Given the description of an element on the screen output the (x, y) to click on. 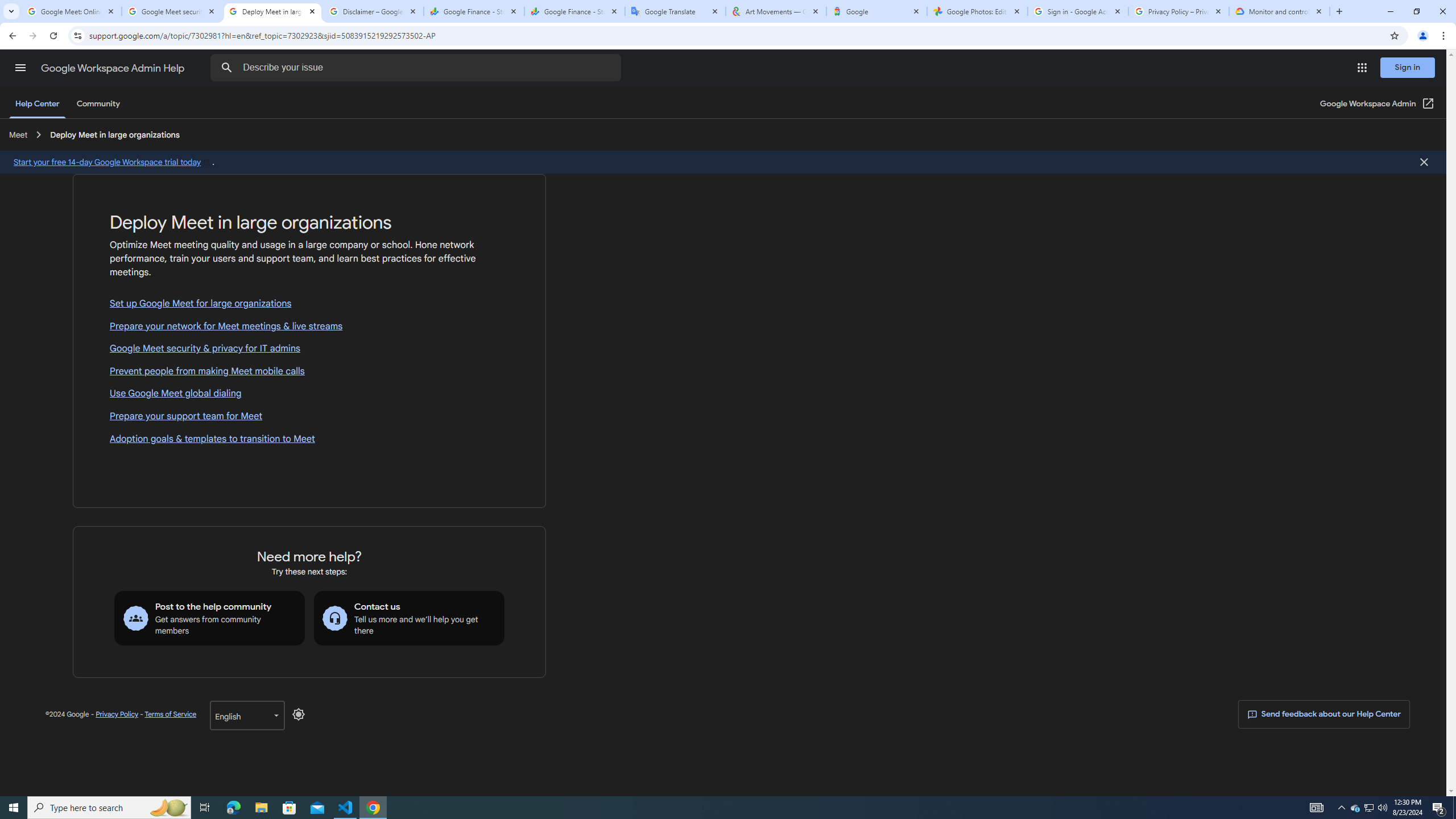
Google Workspace Admin (Open in a new window) (1377, 103)
Google Translate (675, 11)
Prepare your network for Meet meetings & live streams (309, 326)
Set up Google Meet for large organizations (309, 304)
Sign in - Google Accounts (1078, 11)
